Given the description of an element on the screen output the (x, y) to click on. 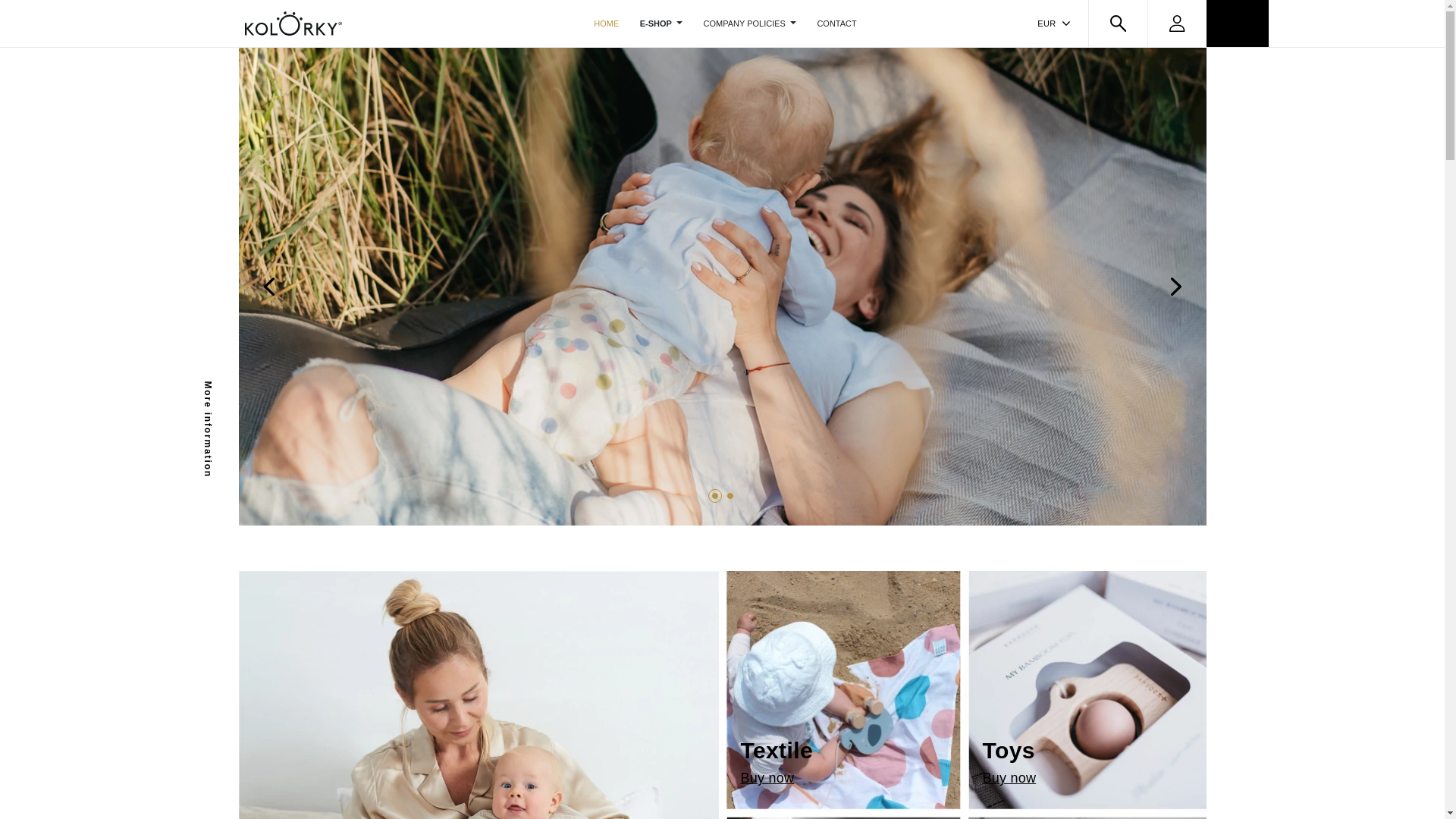
Company Policies (749, 23)
E-SHOP (660, 23)
TEXTILE (842, 691)
COMPANY POLICIES (749, 23)
Eco-friendly nappies with unique design and quality (842, 691)
Home (292, 21)
KOLORKY (1085, 691)
e-shop (606, 23)
TOYS (480, 694)
HOME (480, 694)
ACCESSORIES (660, 23)
Log in (1085, 691)
